Given the description of an element on the screen output the (x, y) to click on. 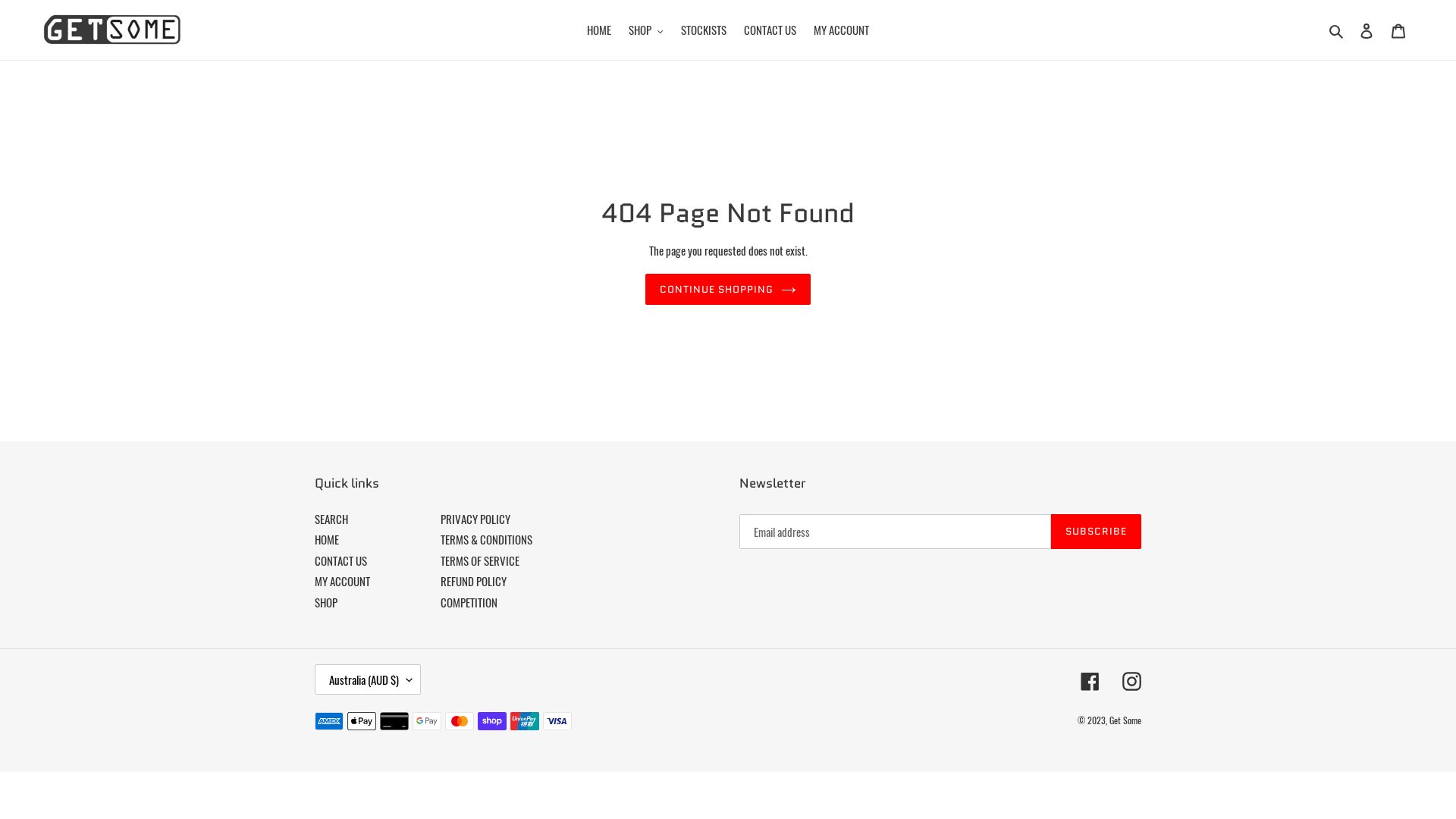
TERMS OF SERVICE Element type: text (479, 560)
MY ACCOUNT Element type: text (841, 29)
SHOP Element type: text (325, 601)
REFUND POLICY Element type: text (473, 580)
STOCKISTS Element type: text (703, 29)
CONTINUE SHOPPING Element type: text (728, 289)
Facebook Element type: text (1089, 680)
TERMS & CONDITIONS Element type: text (486, 538)
COMPETITION Element type: text (468, 601)
SUBSCRIBE Element type: text (1096, 531)
HOME Element type: text (326, 538)
SEARCH Element type: text (331, 518)
Search Element type: text (1337, 29)
HOME Element type: text (598, 29)
CONTACT US Element type: text (340, 560)
MY ACCOUNT Element type: text (342, 580)
Get Some Element type: text (1125, 719)
SHOP Element type: text (646, 29)
Australia (AUD $) Element type: text (367, 679)
CONTACT US Element type: text (769, 29)
PRIVACY POLICY Element type: text (475, 518)
Cart Element type: text (1398, 29)
Instagram Element type: text (1131, 680)
Log in Element type: text (1366, 29)
